Given the description of an element on the screen output the (x, y) to click on. 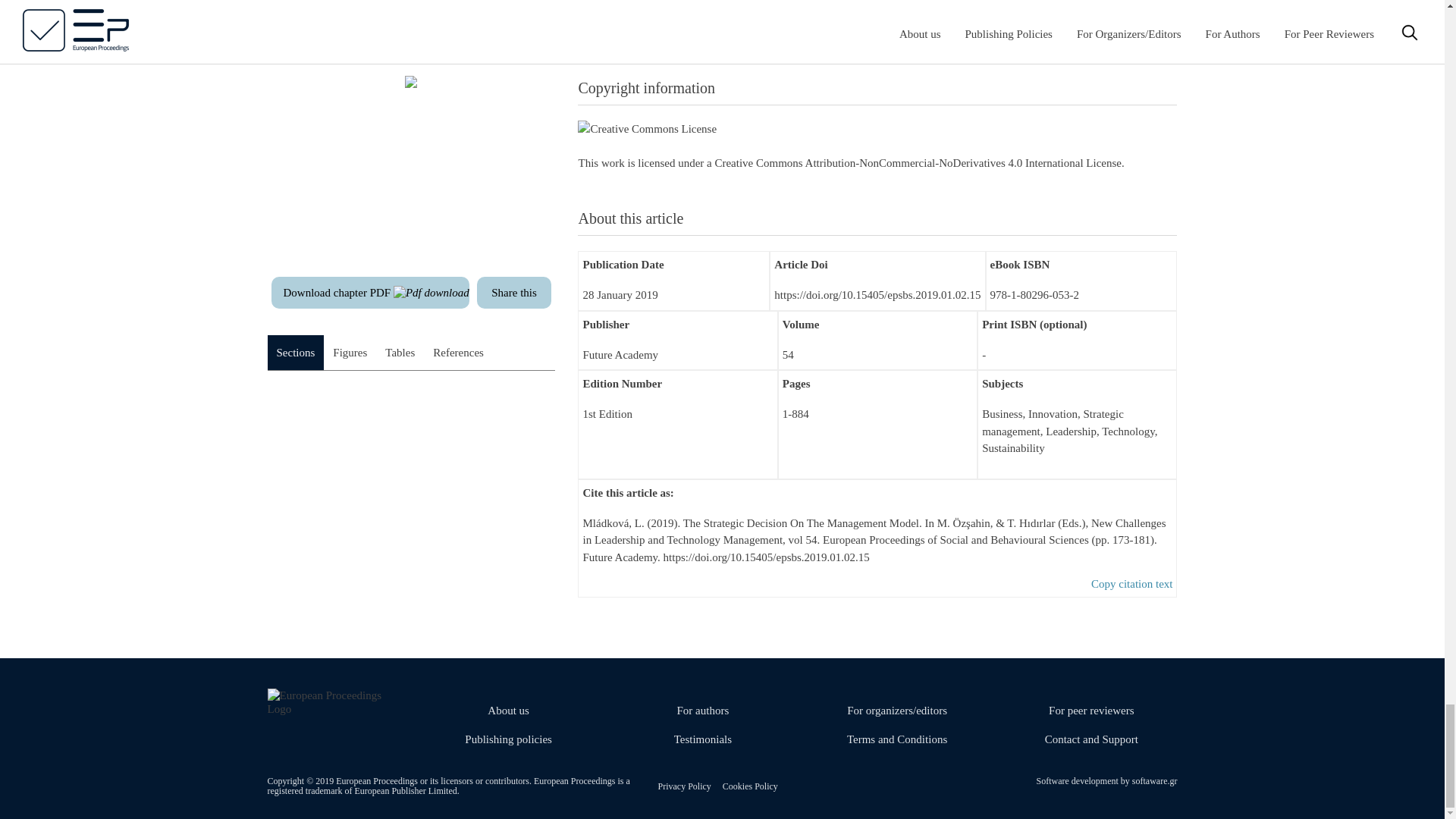
Software development (1078, 780)
Software development company (1154, 780)
